Given the description of an element on the screen output the (x, y) to click on. 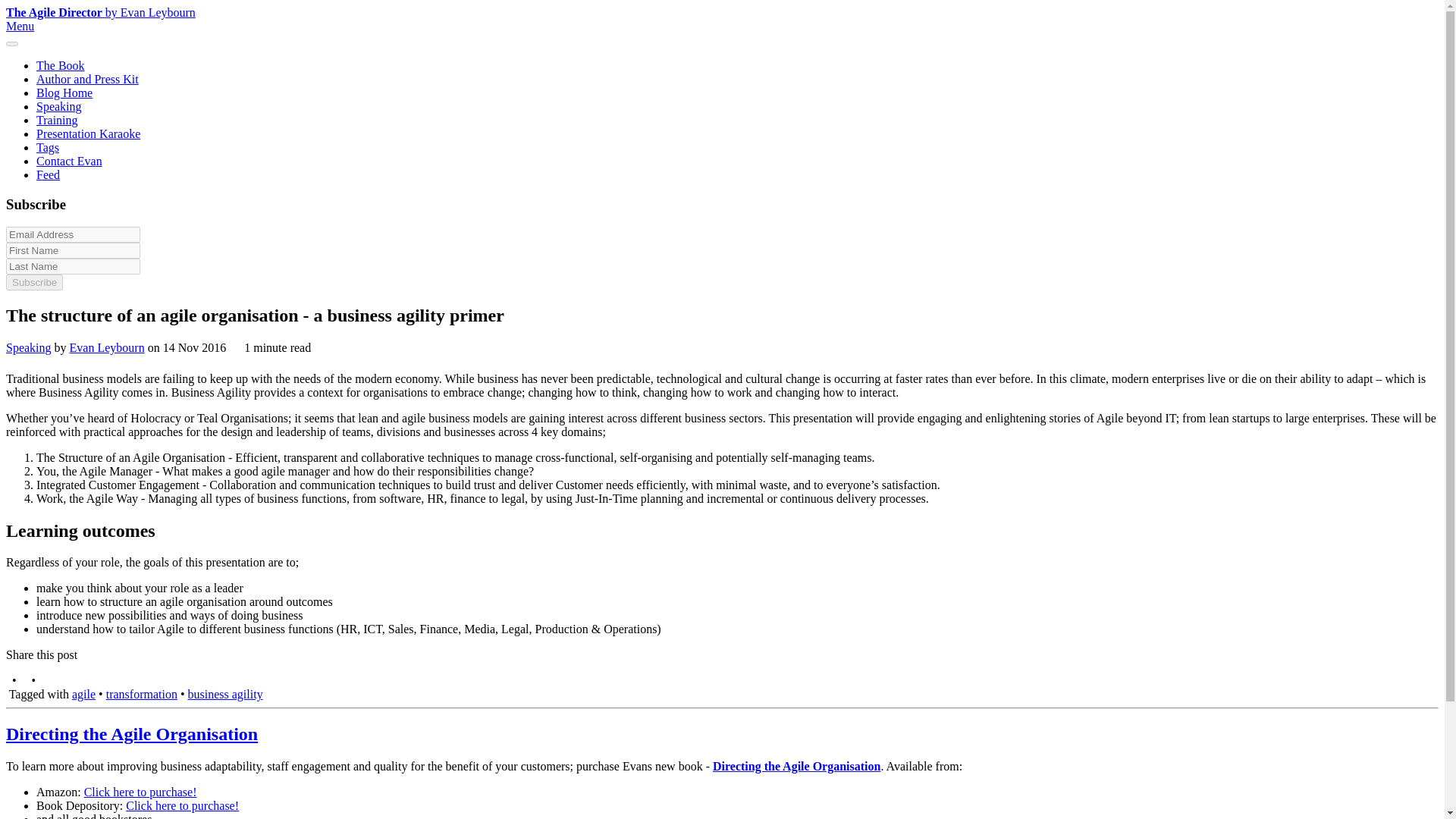
Presentation Karaoke (87, 133)
The Book (60, 65)
Speaking (58, 106)
Training (57, 119)
Subscribe (33, 282)
Menu (19, 25)
transformation (141, 694)
Feed (47, 174)
Speaking (27, 347)
Posts tagged with agile (83, 694)
